Given the description of an element on the screen output the (x, y) to click on. 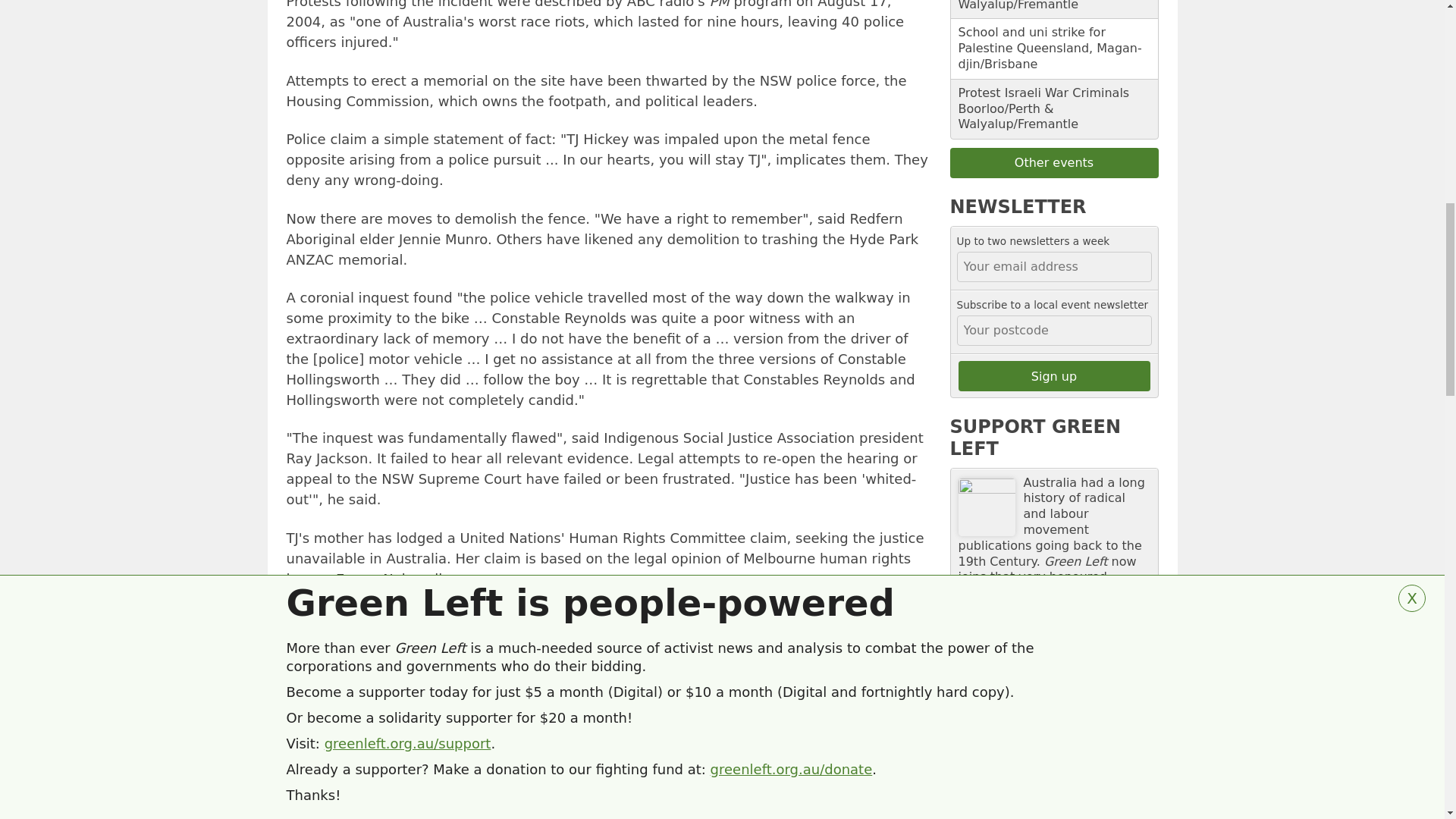
Sign up (1054, 376)
